Given the description of an element on the screen output the (x, y) to click on. 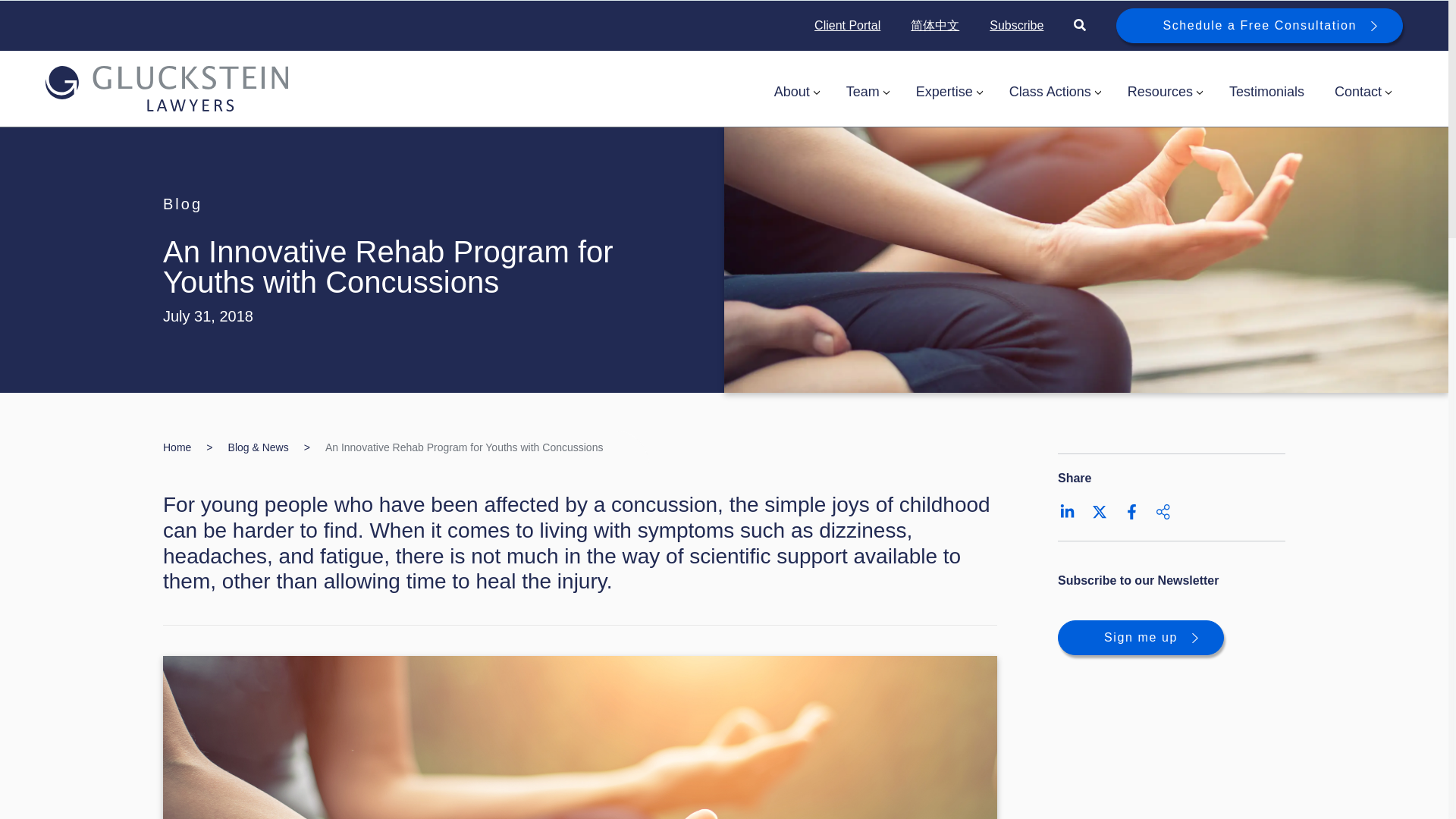
Share This (1163, 511)
Share on LinkedIn (1067, 511)
Share on Twitter (1099, 511)
Share on Facebook (1131, 511)
